Given the description of an element on the screen output the (x, y) to click on. 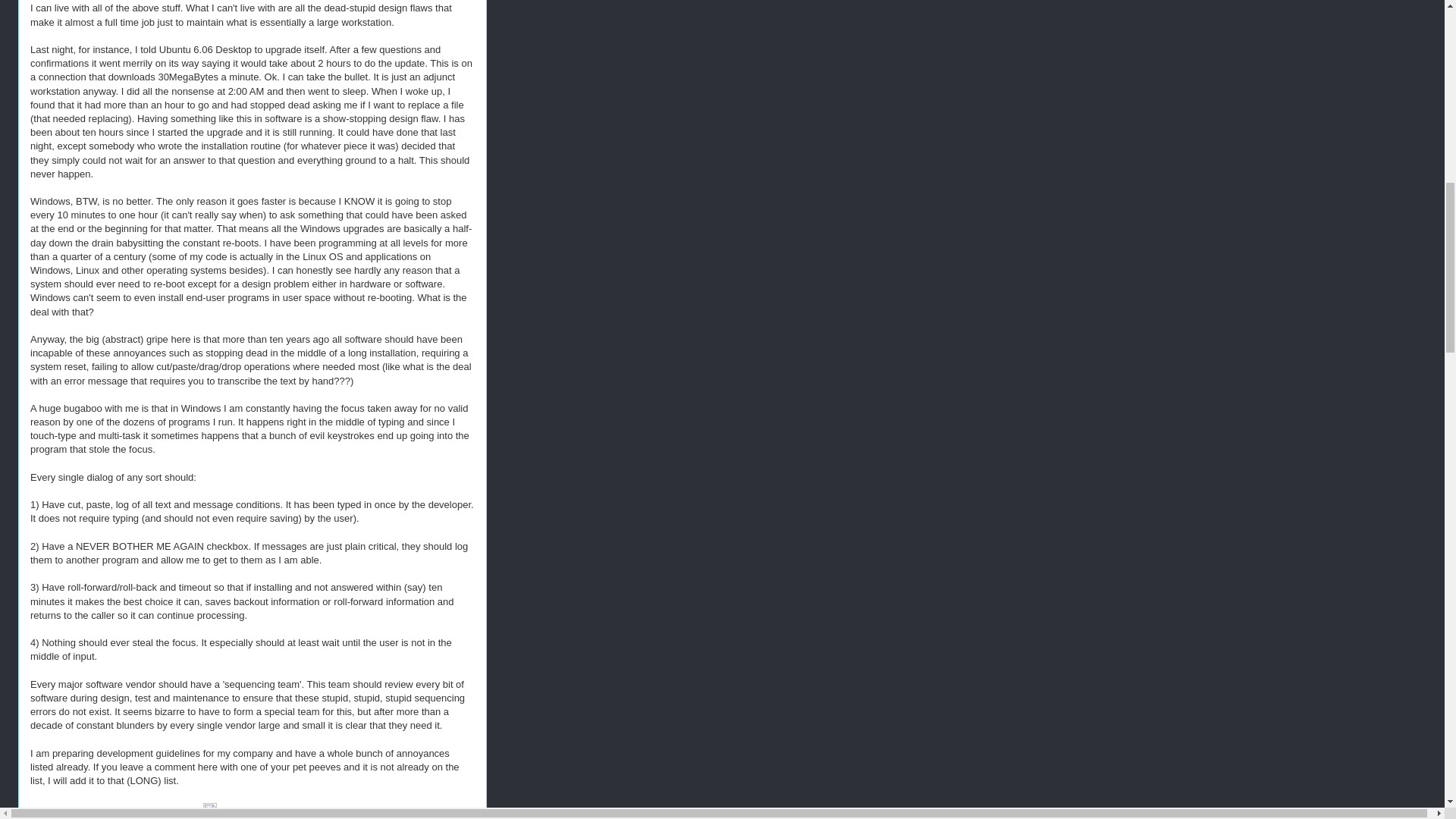
Edit Post (209, 813)
permanent link (78, 813)
No comments: (153, 813)
January 18, 2008 (78, 813)
Email Post (194, 813)
